Given the description of an element on the screen output the (x, y) to click on. 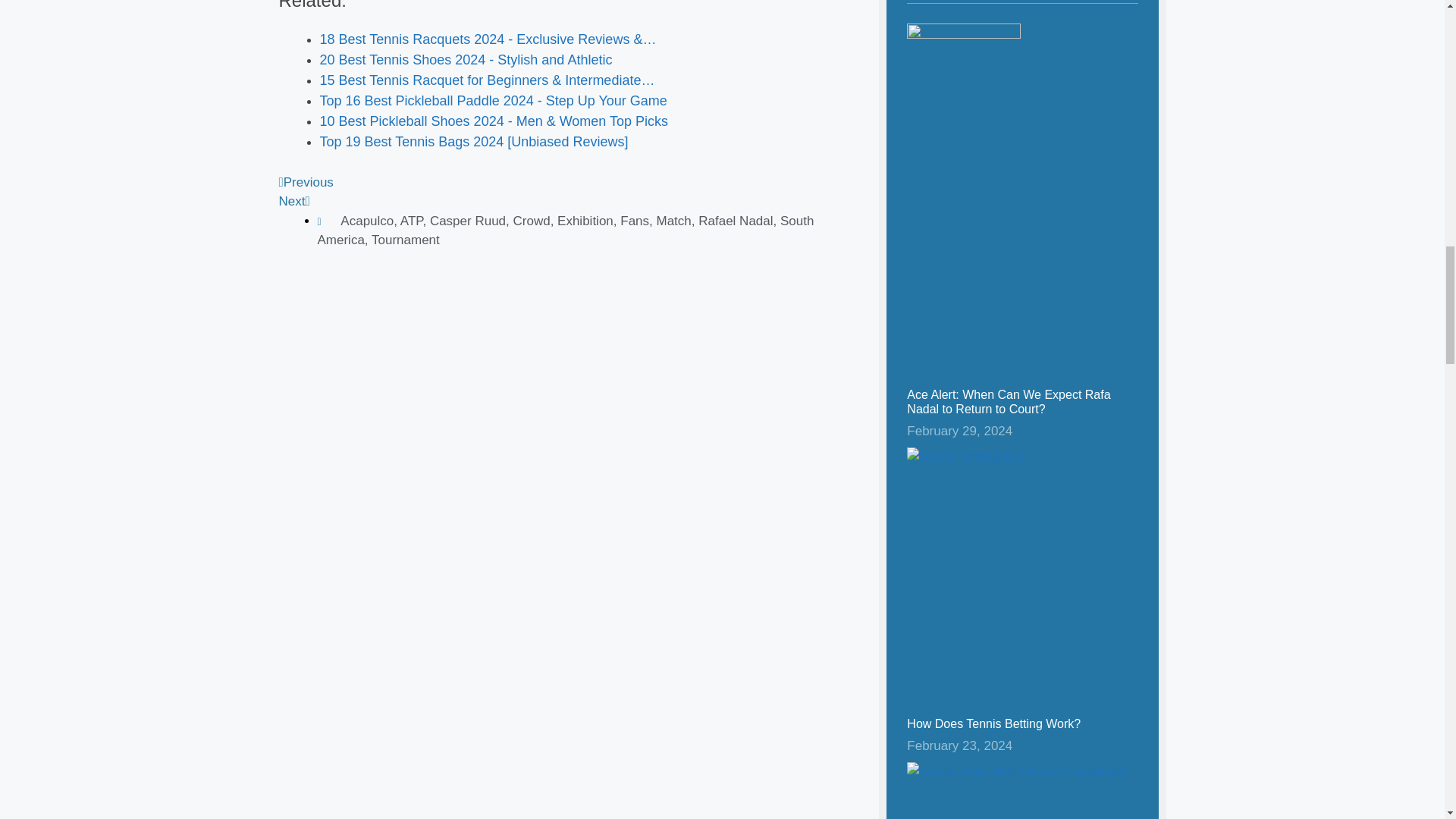
Acapulco (366, 220)
Next (294, 201)
Previous (306, 182)
20 Best Tennis Shoes 2024 - Stylish and Athletic (466, 59)
Top 16 Best Pickleball Paddle 2024 - Step Up Your Game (493, 100)
ATP (411, 220)
